Given the description of an element on the screen output the (x, y) to click on. 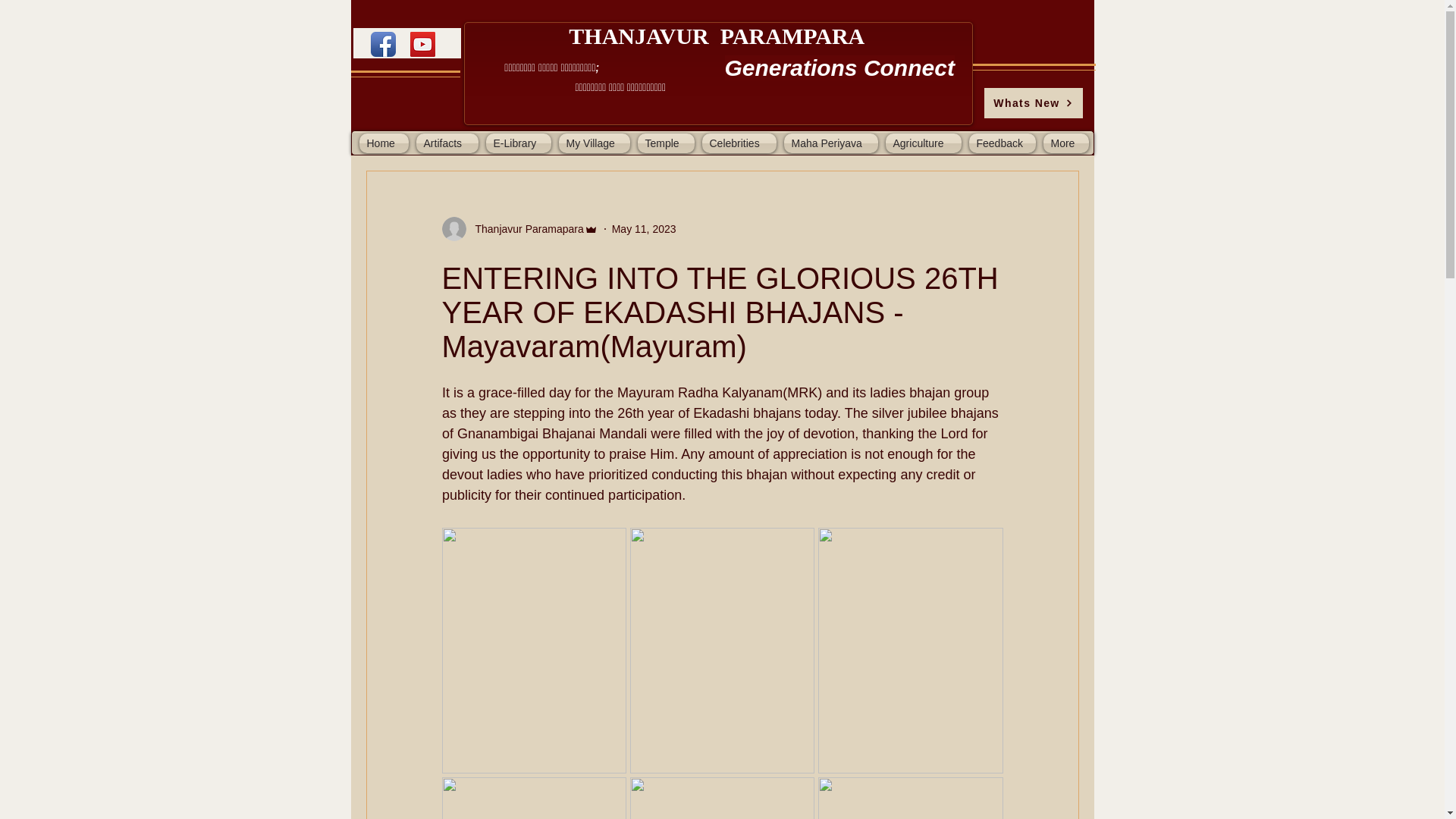
Artifacts (446, 143)
Feedback (1001, 143)
Maha Periyava (829, 143)
Agriculture (921, 143)
E-Library (517, 143)
Thanjavur Paramapara (524, 229)
My Village (593, 143)
Home (385, 143)
May 11, 2023 (644, 228)
Whats New (1033, 102)
Celebrities (737, 143)
Temple (665, 143)
